Given the description of an element on the screen output the (x, y) to click on. 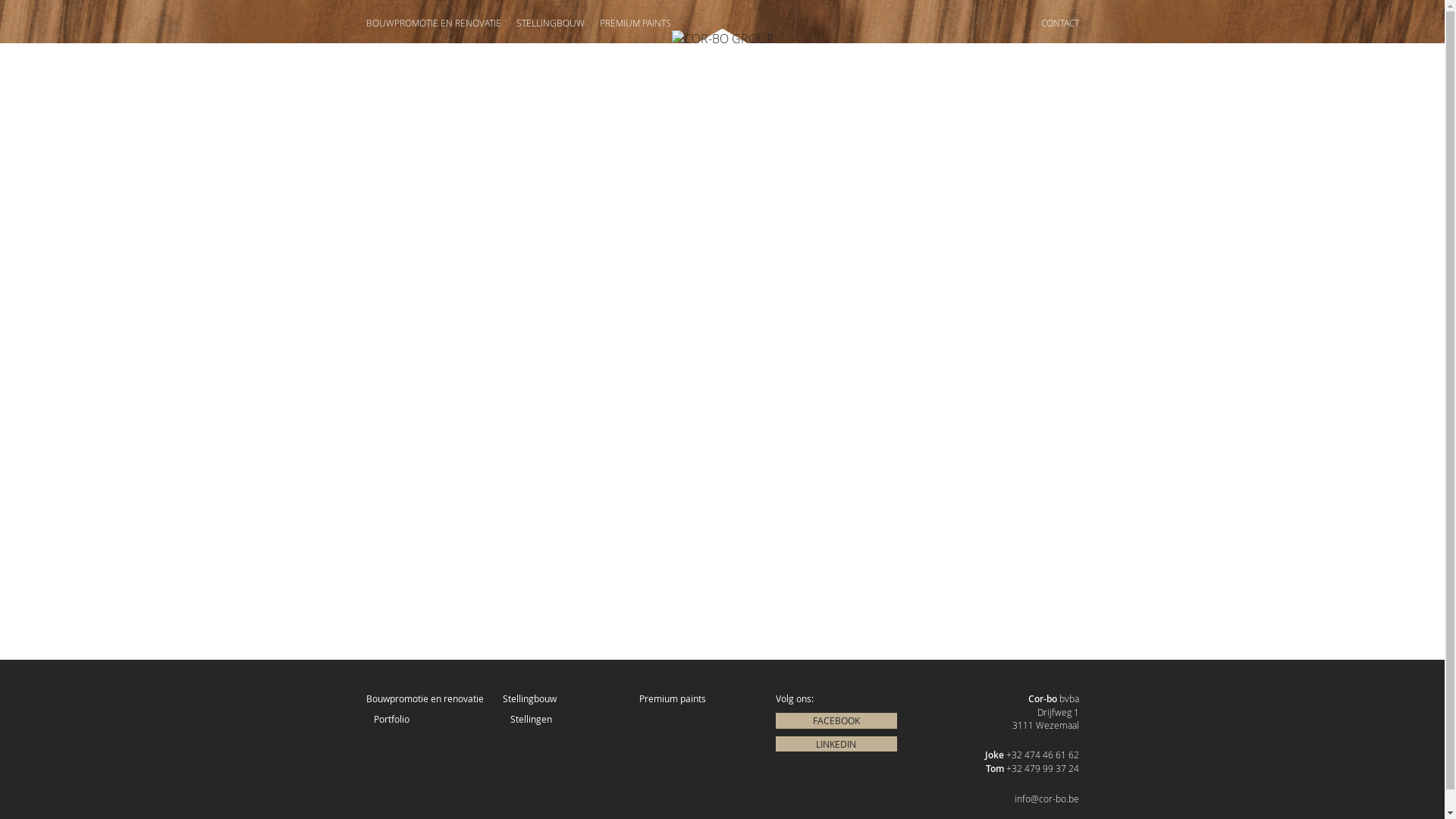
FACEBOOK Element type: text (835, 720)
info@cor-bo.be Element type: text (1046, 798)
LINKEDIN Element type: text (835, 744)
